Given the description of an element on the screen output the (x, y) to click on. 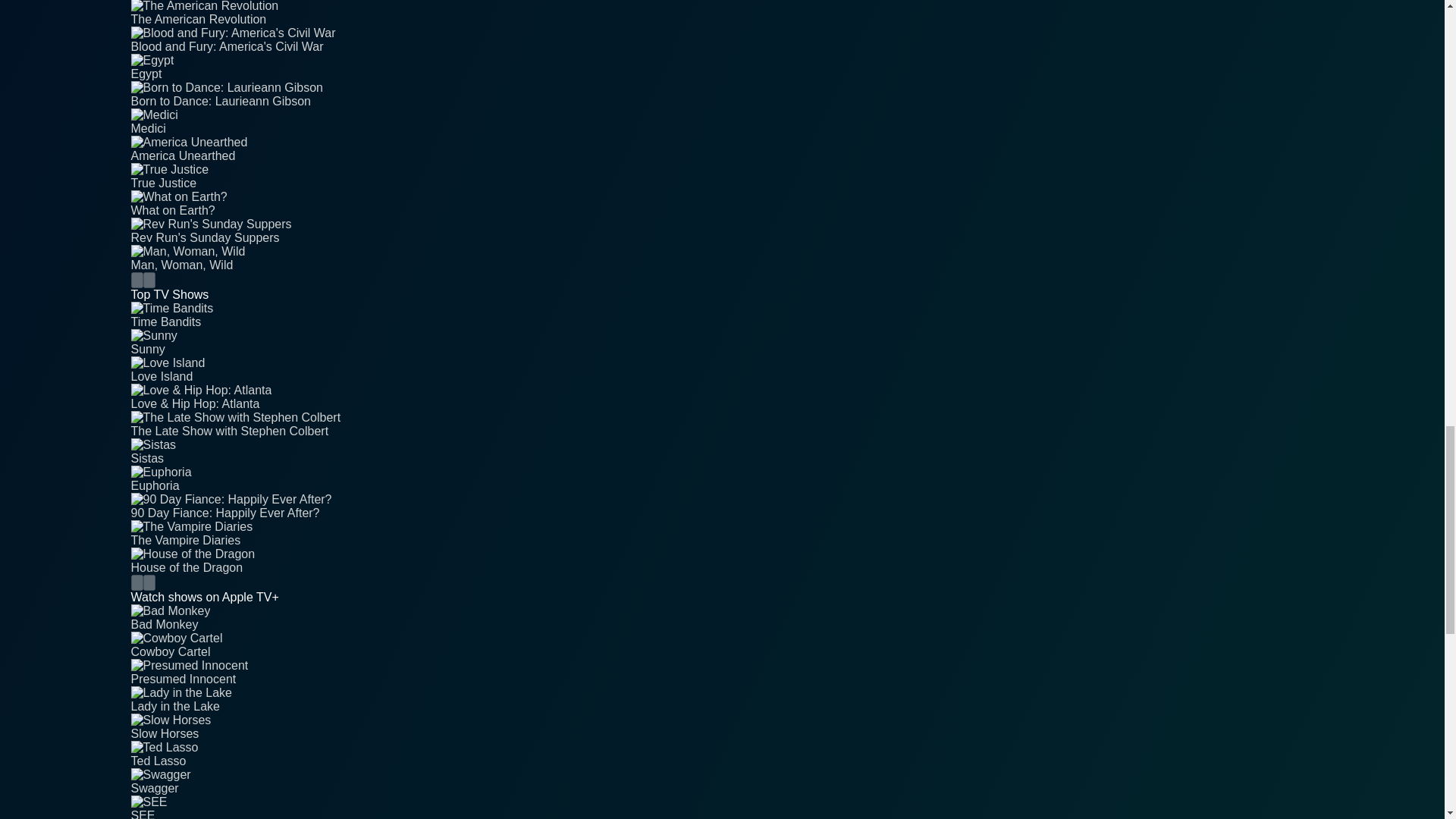
The American Revolution (722, 26)
What on Earth? (722, 216)
Rev Run's Sunday Suppers (722, 244)
Time Bandits (722, 329)
Blood and Fury: America's Civil War (722, 53)
Sistas (722, 465)
Man, Woman, Wild (722, 271)
America Unearthed (722, 162)
Born to Dance: Laurieann Gibson (722, 108)
Sunny (722, 356)
